Given the description of an element on the screen output the (x, y) to click on. 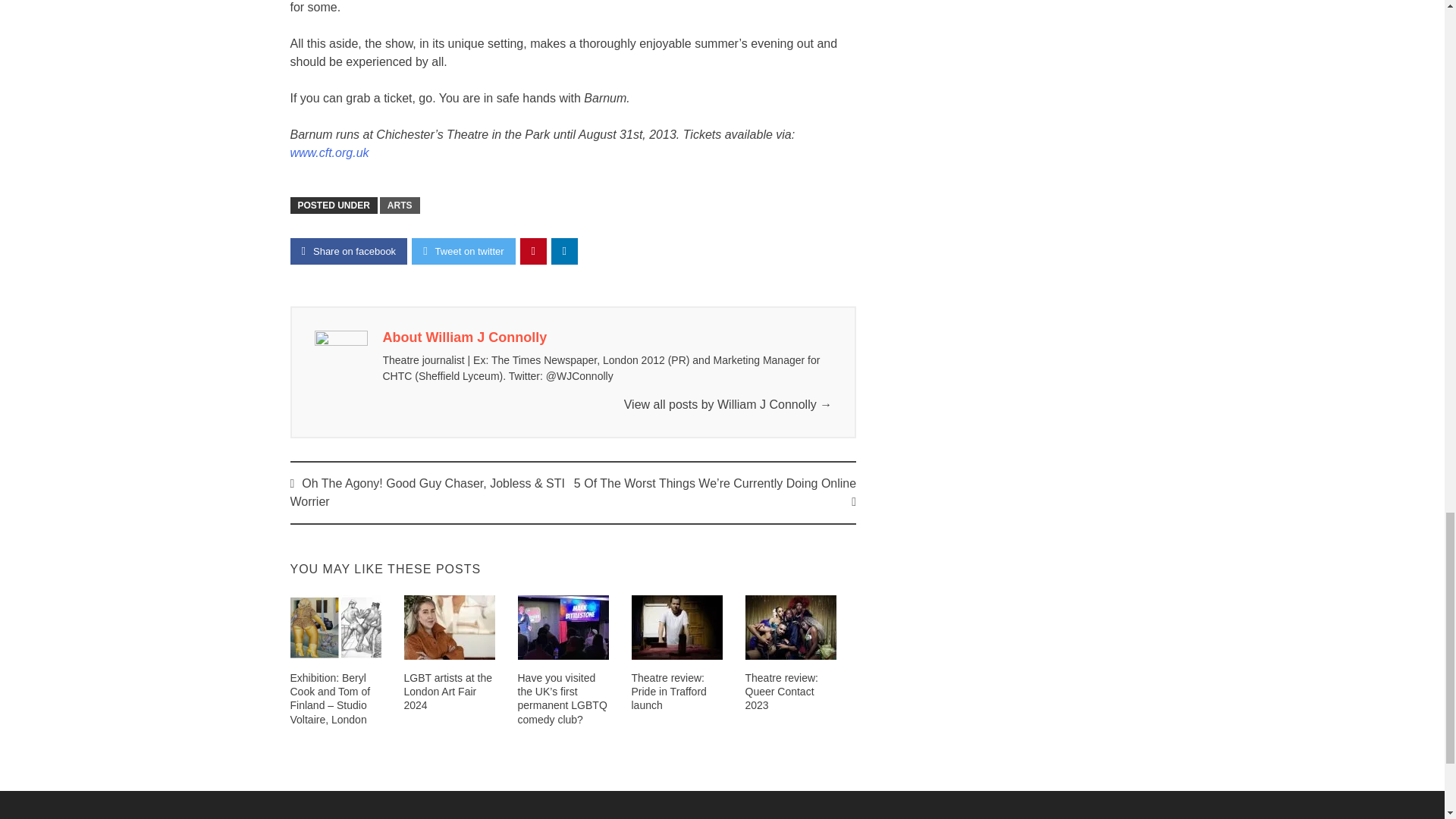
www.cft.org.uk (328, 152)
